Given the description of an element on the screen output the (x, y) to click on. 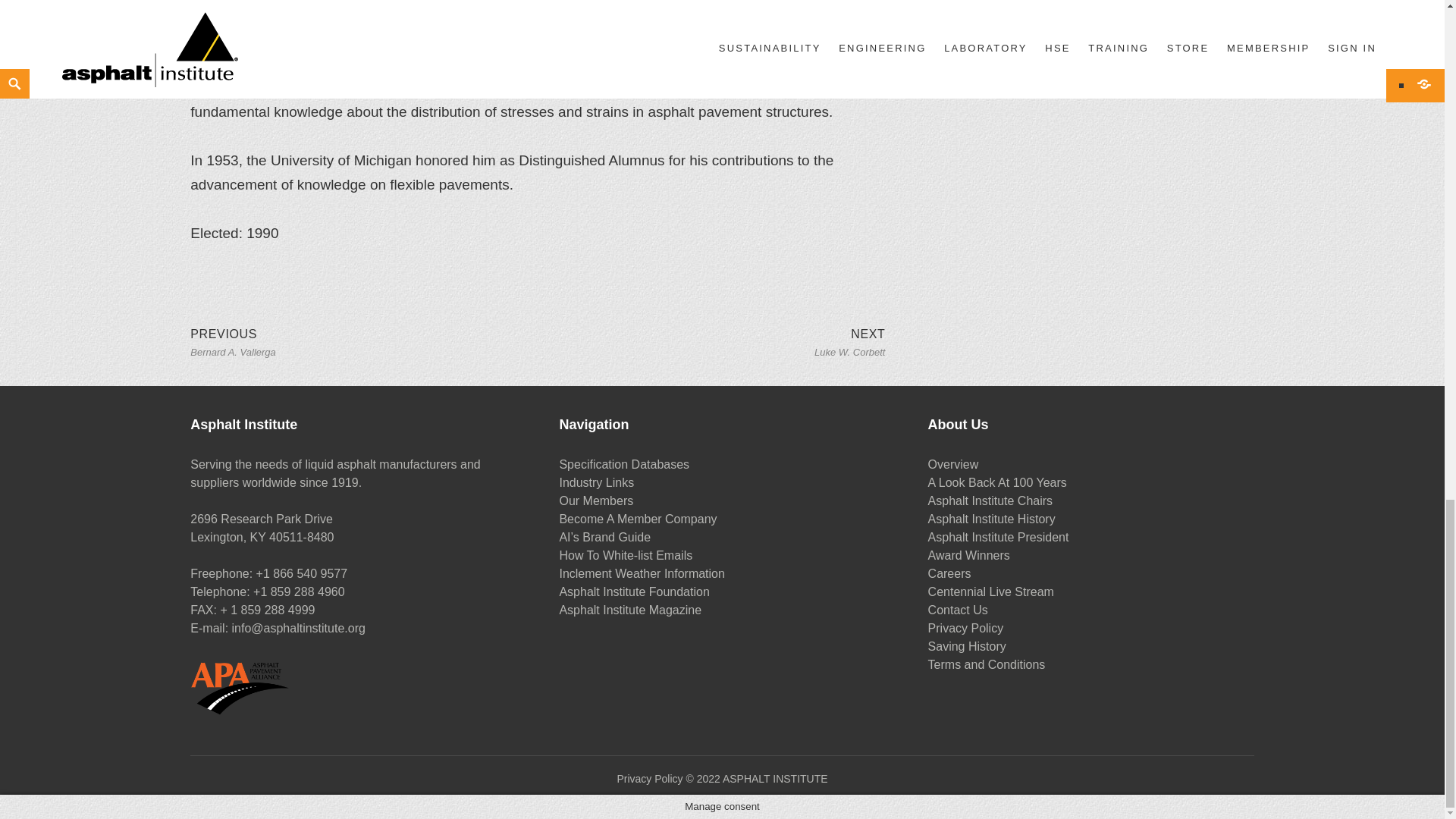
859 288 4960 (307, 591)
Specification Databases (623, 464)
Industry Links (596, 482)
866 540 9577 (310, 573)
Our Members (233, 340)
Asphalt Institute (596, 500)
Become A Member Company (762, 779)
How To White-list Emails (637, 519)
